Given the description of an element on the screen output the (x, y) to click on. 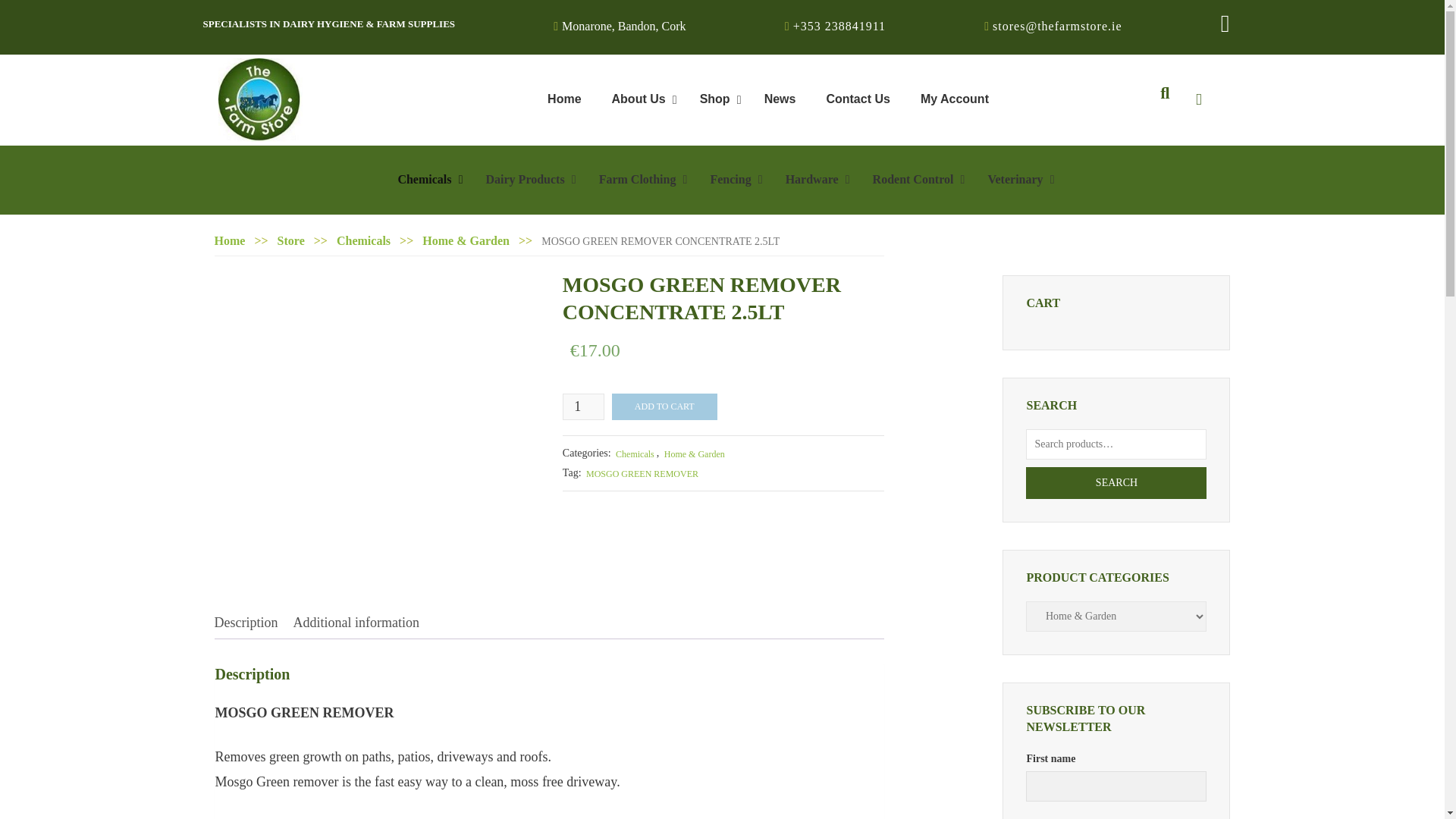
Home (563, 99)
About Us (640, 99)
1 (583, 406)
Shop (716, 99)
First name (767, 99)
